Given the description of an element on the screen output the (x, y) to click on. 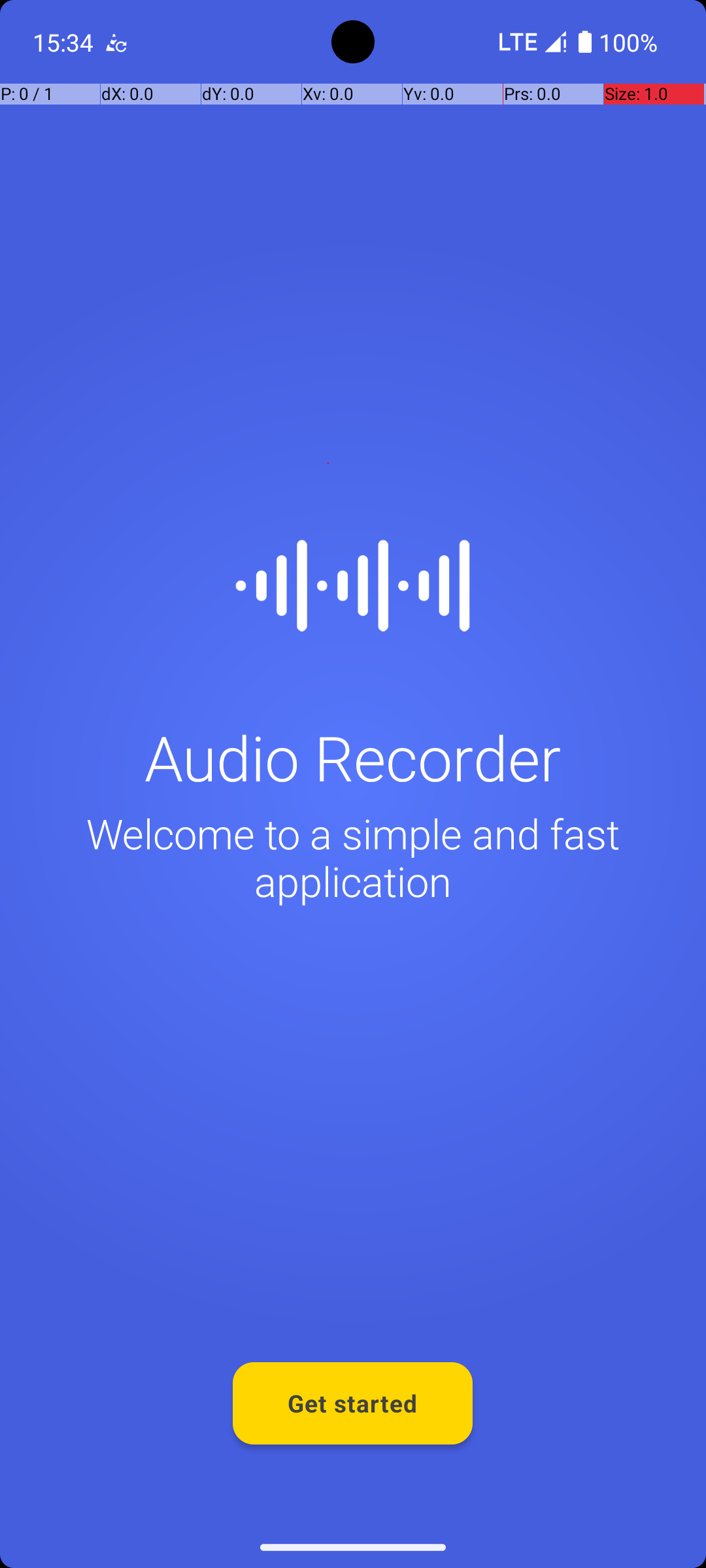
Welcome to a simple and fast application Element type: android.widget.TextView (352, 856)
VLC notification: Scanning for media files Element type: android.widget.ImageView (115, 41)
